Given the description of an element on the screen output the (x, y) to click on. 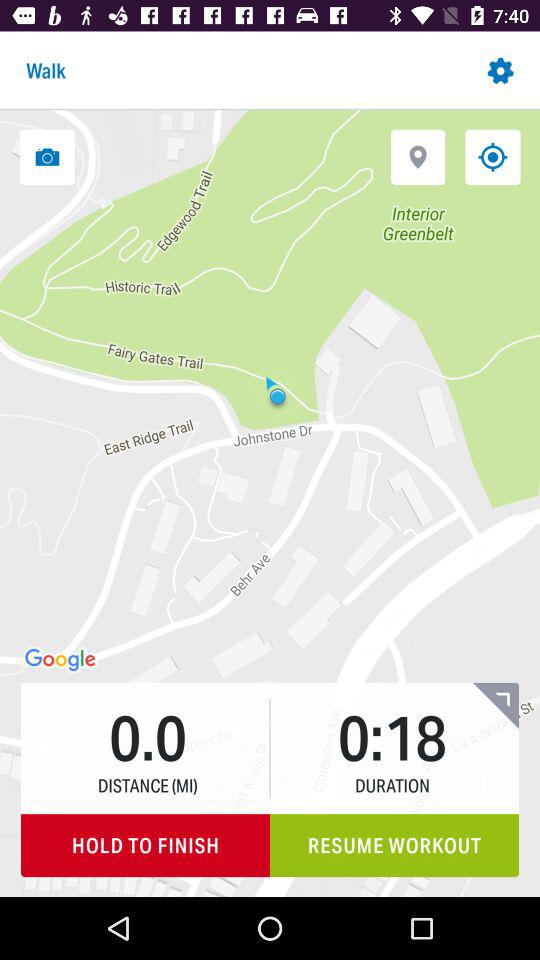
mark location (418, 156)
